Given the description of an element on the screen output the (x, y) to click on. 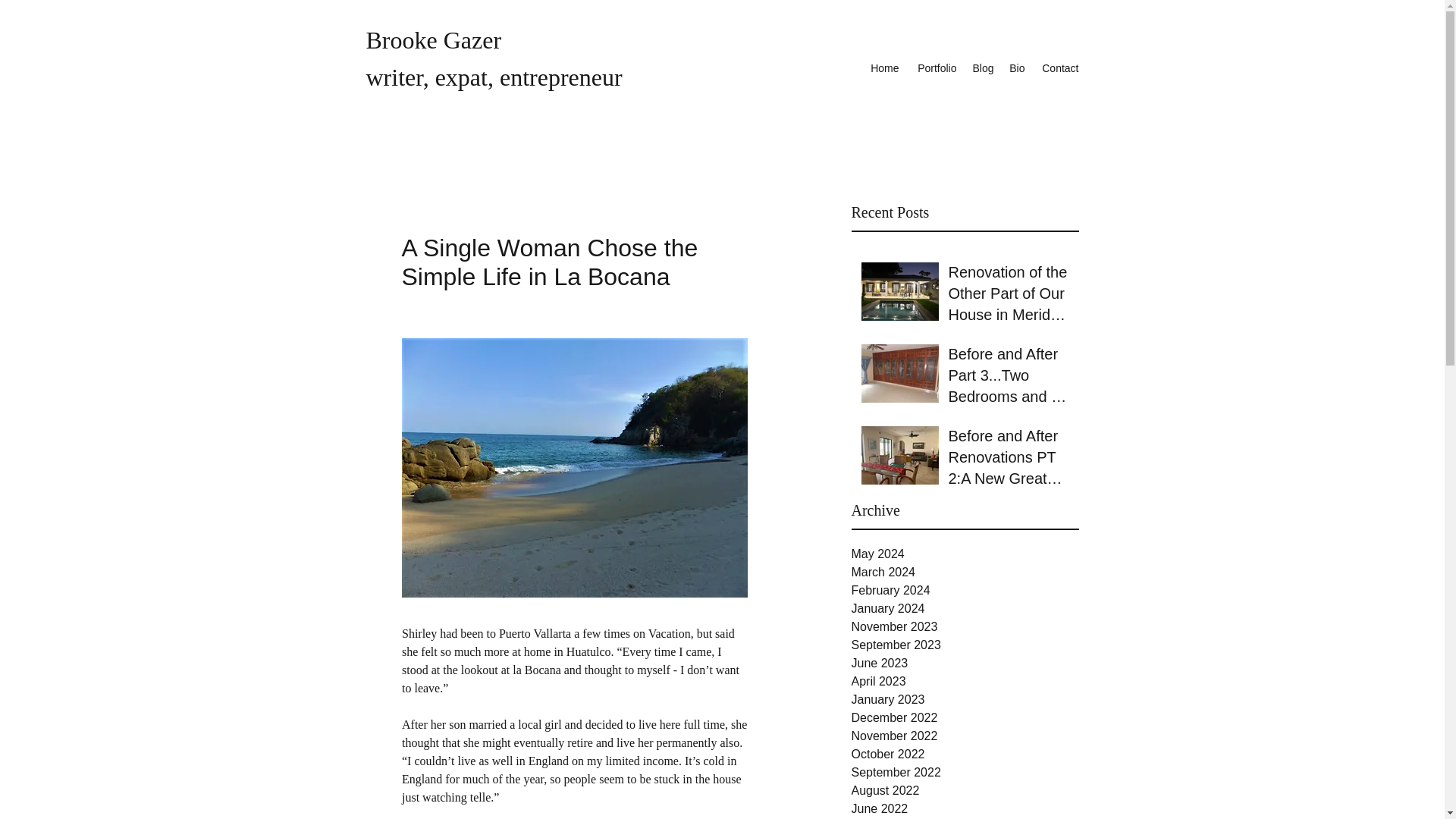
Home (883, 67)
Before and After Part 3...Two Bedrooms and a Den (1007, 378)
Portfolio (935, 67)
November 2022 (964, 736)
March 2024 (964, 572)
April 2023 (964, 681)
Renovation of the Other Part of Our House in Merida: Part I (1007, 296)
May 2024 (964, 554)
June 2022 (964, 809)
August 2022 (964, 791)
November 2023 (964, 627)
Blog (982, 67)
January 2024 (964, 608)
September 2022 (964, 772)
